Given the description of an element on the screen output the (x, y) to click on. 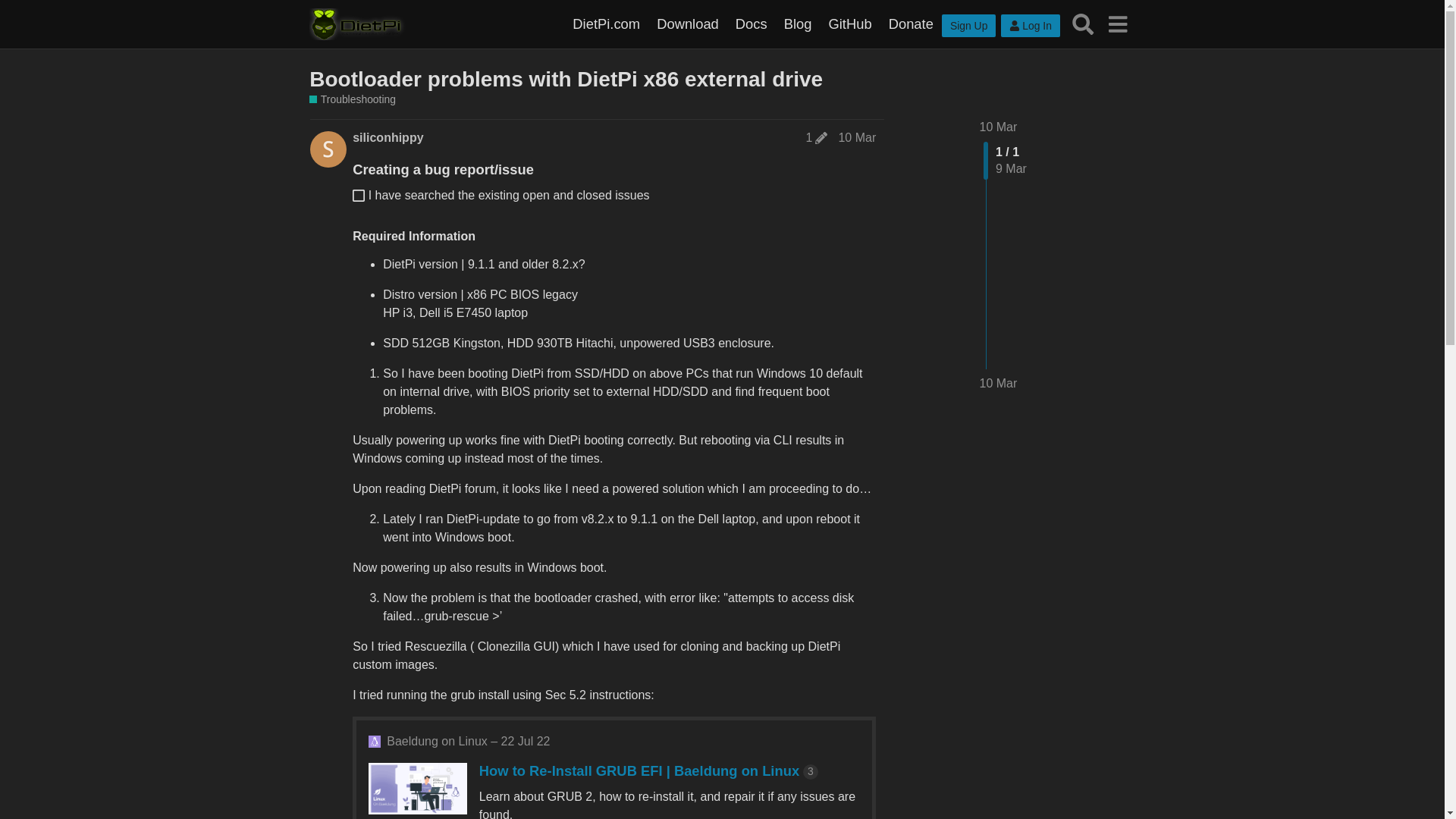
DietPi.com (605, 23)
Help DietPi development (911, 23)
1 (817, 137)
DietPi source code (849, 23)
Docs (751, 23)
10 Mar (857, 137)
DietPi documentation (751, 23)
10 Mar (998, 126)
Download (686, 23)
Post date (857, 137)
08:14PM - 22 July 2022 (468, 741)
10 Mar (998, 383)
Log In (1030, 25)
menu (1117, 23)
Donate (911, 23)
